Given the description of an element on the screen output the (x, y) to click on. 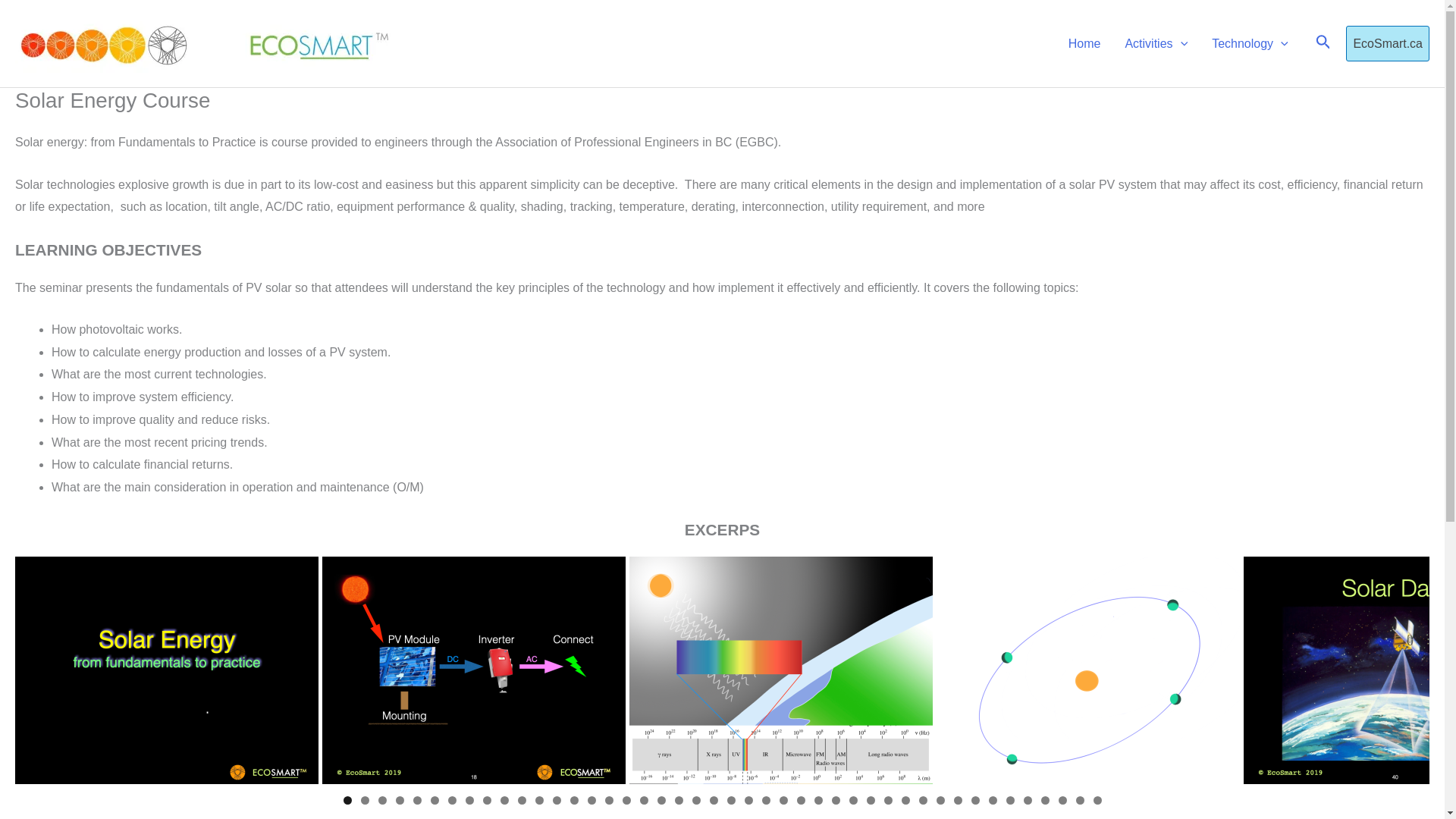
SolarCourse001 (166, 669)
SolarCourse022 (780, 669)
SolarCourse018 (473, 669)
Home (1085, 42)
Technology (1249, 42)
EcoSmart.ca (1387, 43)
Activities (1155, 42)
SolarCourse035 (1088, 669)
